Given the description of an element on the screen output the (x, y) to click on. 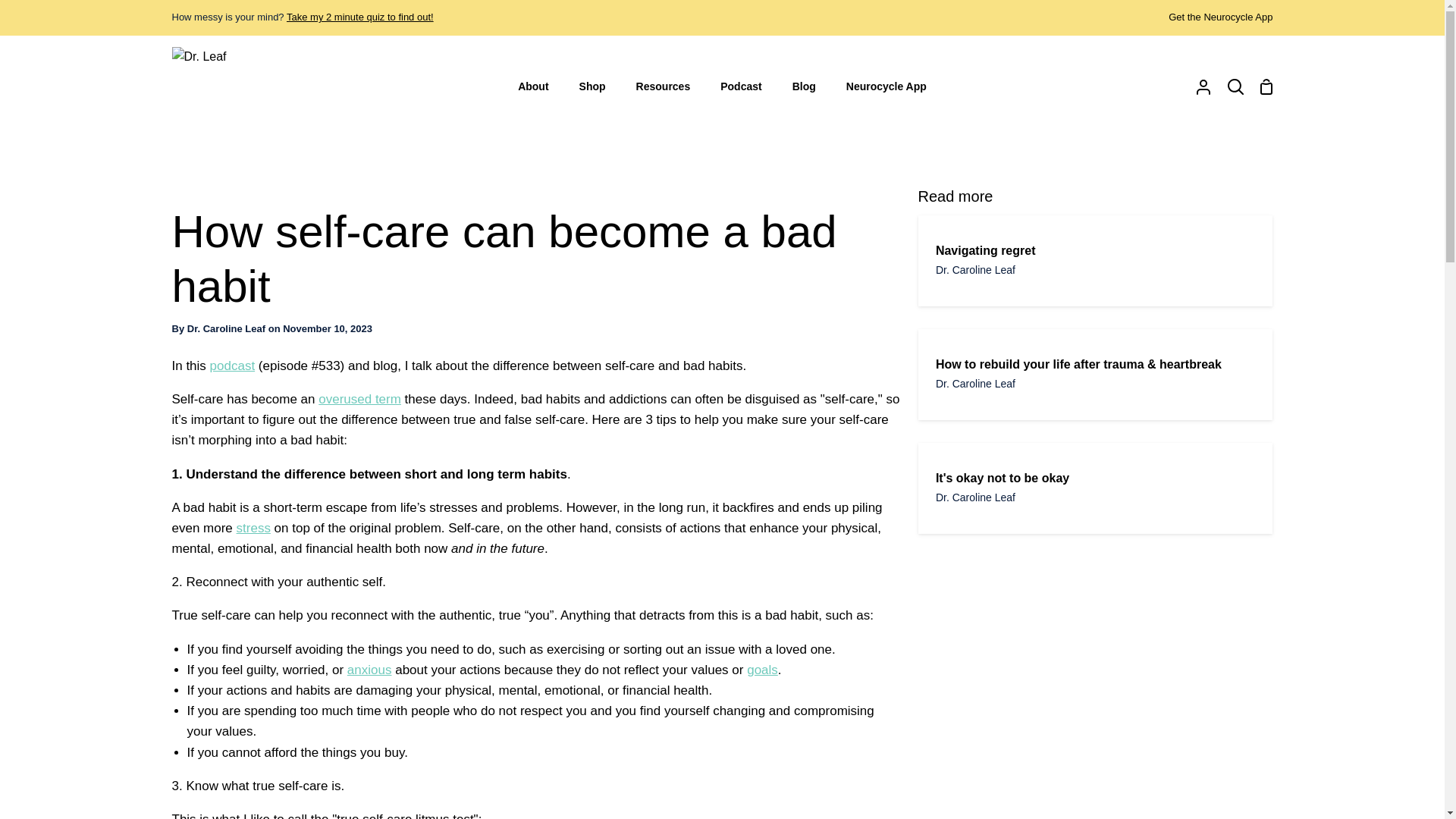
Neurocycle App (886, 87)
Get the Neurocycle App (1220, 17)
Take my 2 minute quiz to find out! (359, 16)
How messy is your mind? (359, 16)
